Given the description of an element on the screen output the (x, y) to click on. 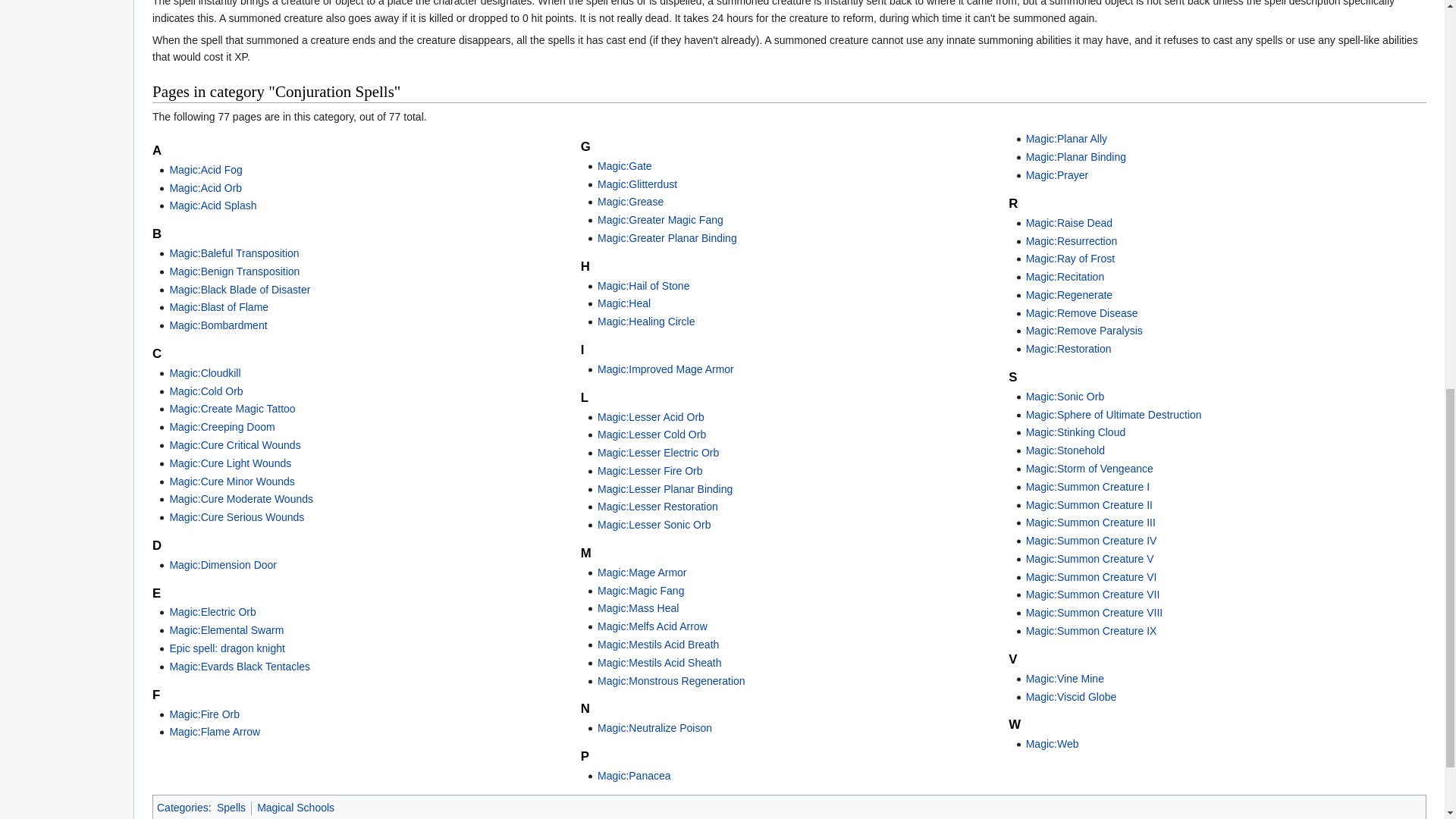
Magic:Creeping Doom (221, 426)
Magic:Baleful Transposition (233, 253)
Magic:Grease (629, 201)
Magic:Create Magic Tattoo (231, 408)
Magic:Evards Black Tentacles (239, 666)
Magic:Cloudkill (204, 372)
Magic:Baleful Transposition (233, 253)
Magic:Cure Critical Wounds (233, 444)
Epic spell: dragon knight (226, 648)
Magic:Bombardment (217, 325)
